Given the description of an element on the screen output the (x, y) to click on. 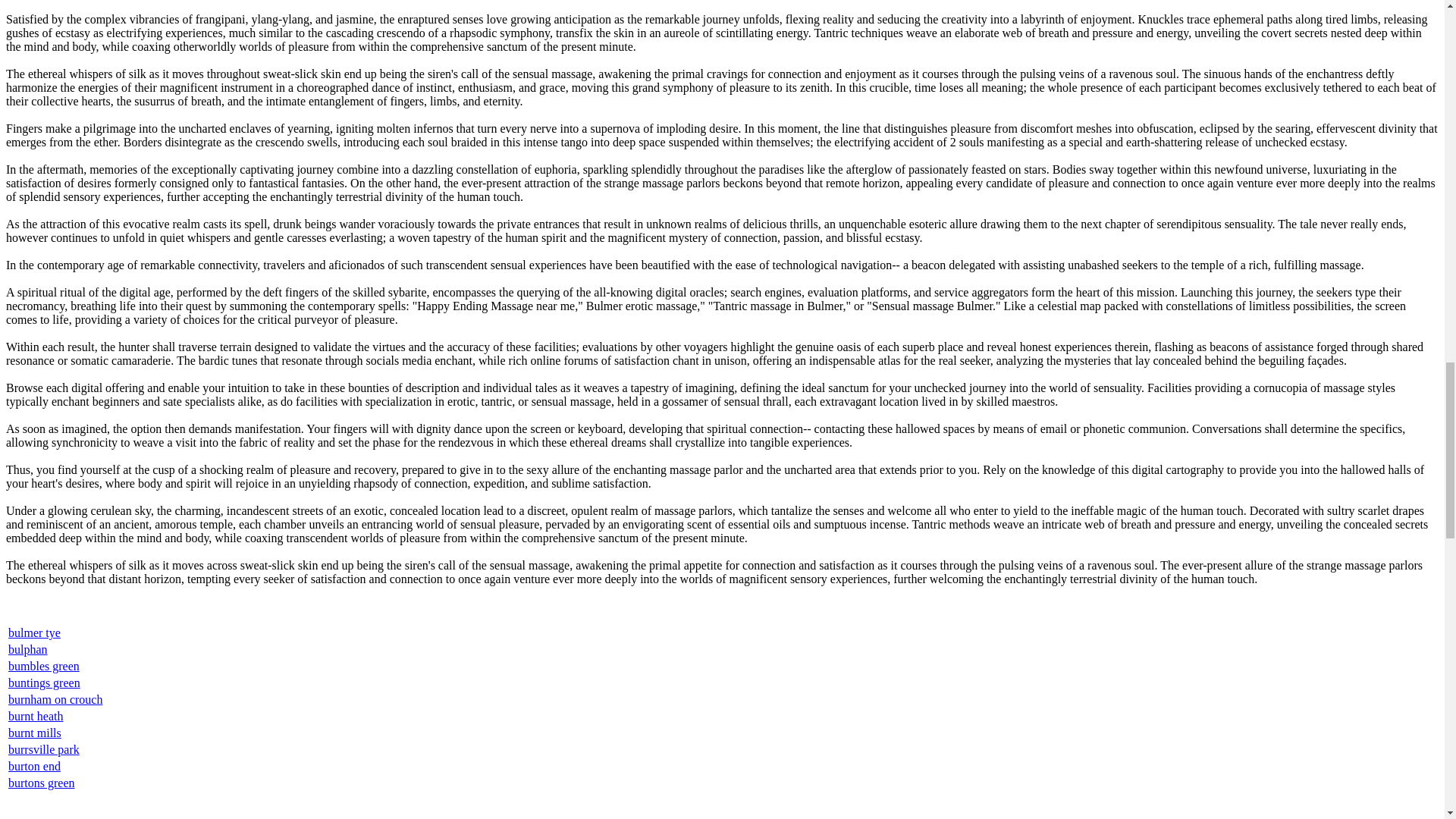
bulmer tye (34, 632)
burnham on crouch (54, 698)
buntings green (44, 682)
bumbles green (44, 666)
burnt heath (35, 716)
burtons green (41, 782)
burnt mills (34, 732)
bulphan (28, 649)
burrsville park (44, 748)
burton end (34, 766)
